Given the description of an element on the screen output the (x, y) to click on. 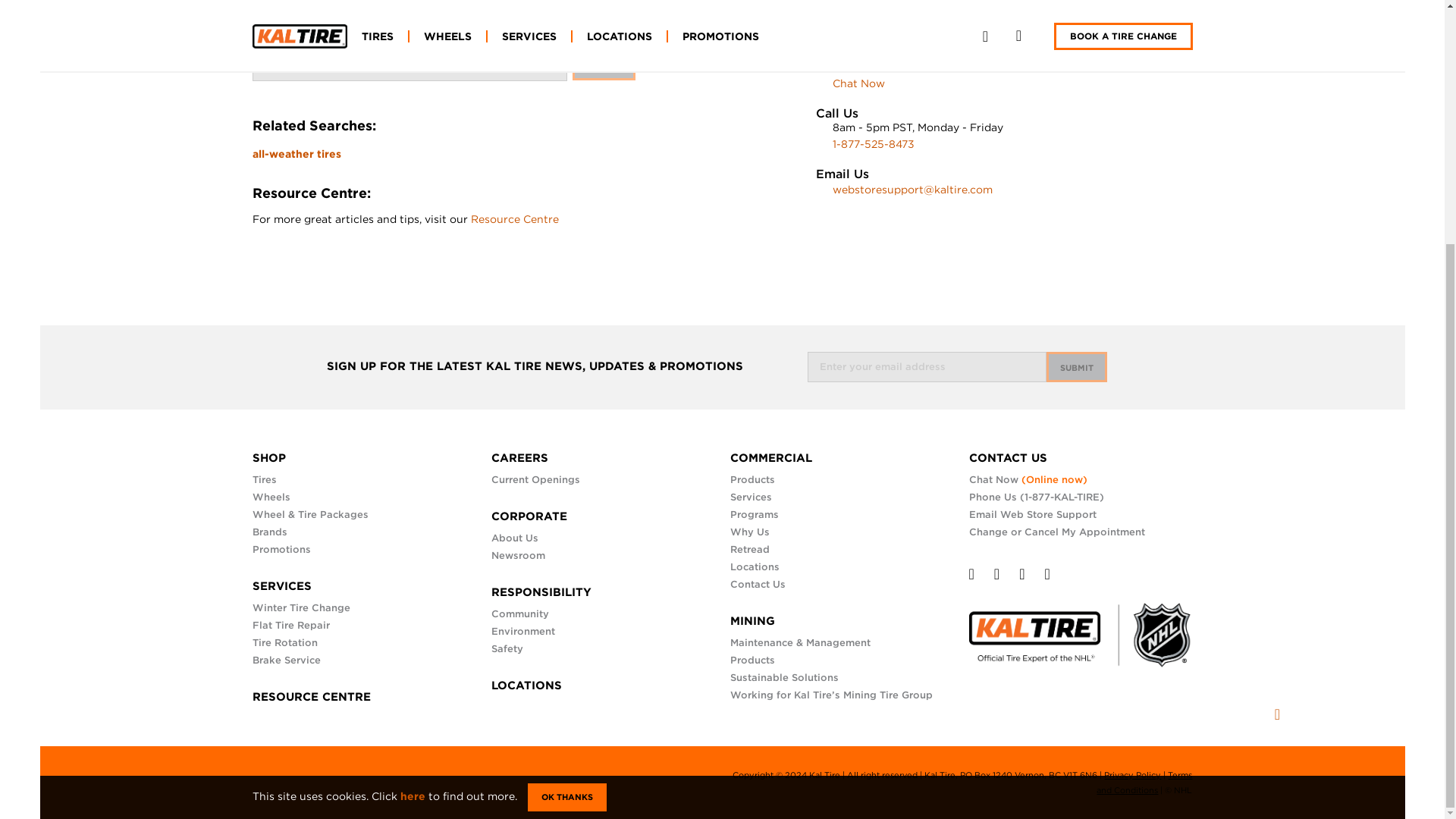
all-weather tires (295, 153)
Official tire expert of the NHL logo (1080, 627)
